Given the description of an element on the screen output the (x, y) to click on. 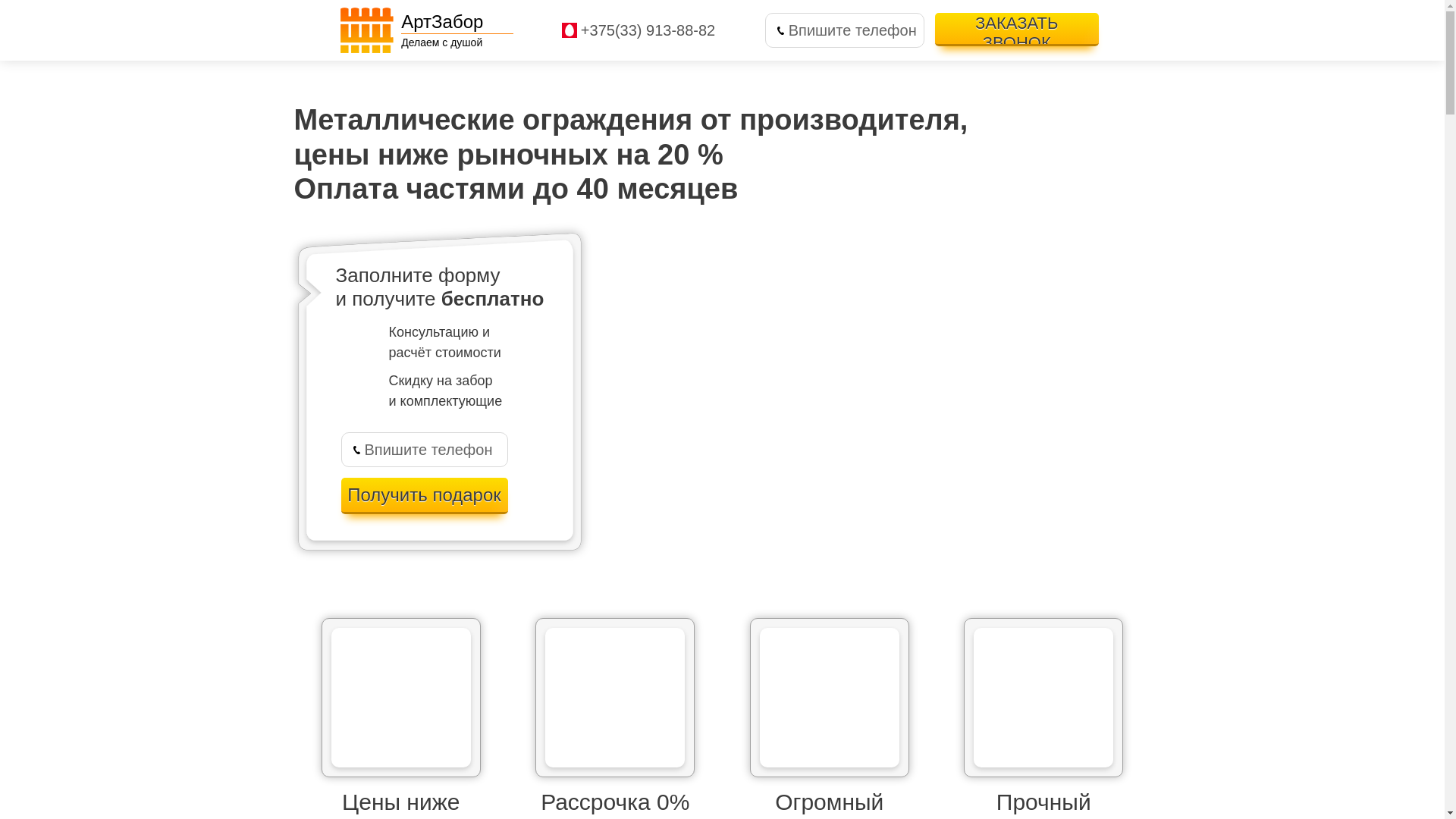
+375(33) 913-88-82 Element type: text (647, 30)
